Given the description of an element on the screen output the (x, y) to click on. 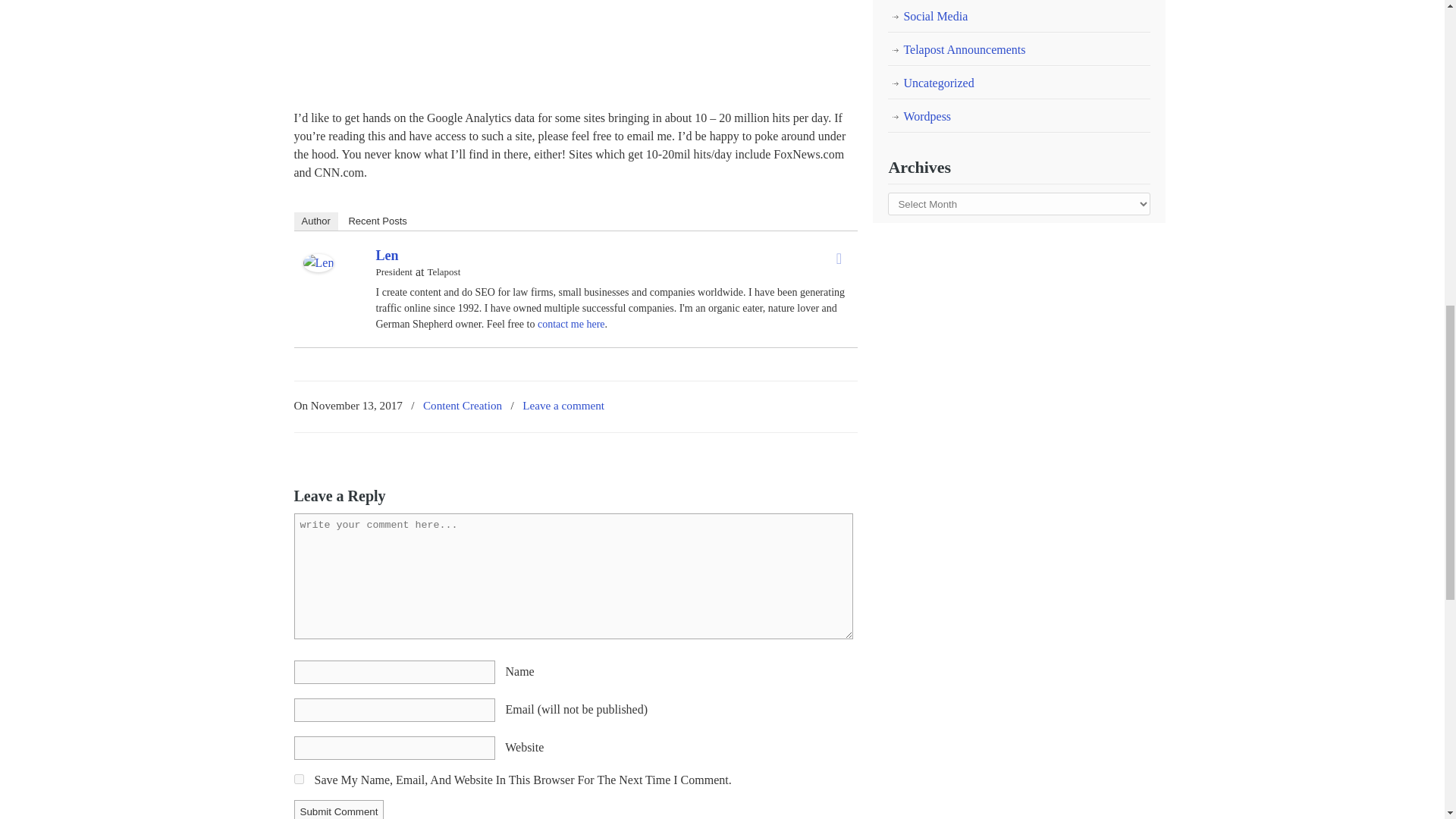
yes (299, 778)
Len (386, 255)
Content Creation (462, 405)
Submit Comment (339, 809)
contact me here (571, 324)
Submit Comment (339, 809)
Twitter (838, 258)
Social Media (1019, 16)
Author (315, 221)
Leave a comment (563, 405)
Len (318, 267)
Recent Posts (376, 221)
